Given the description of an element on the screen output the (x, y) to click on. 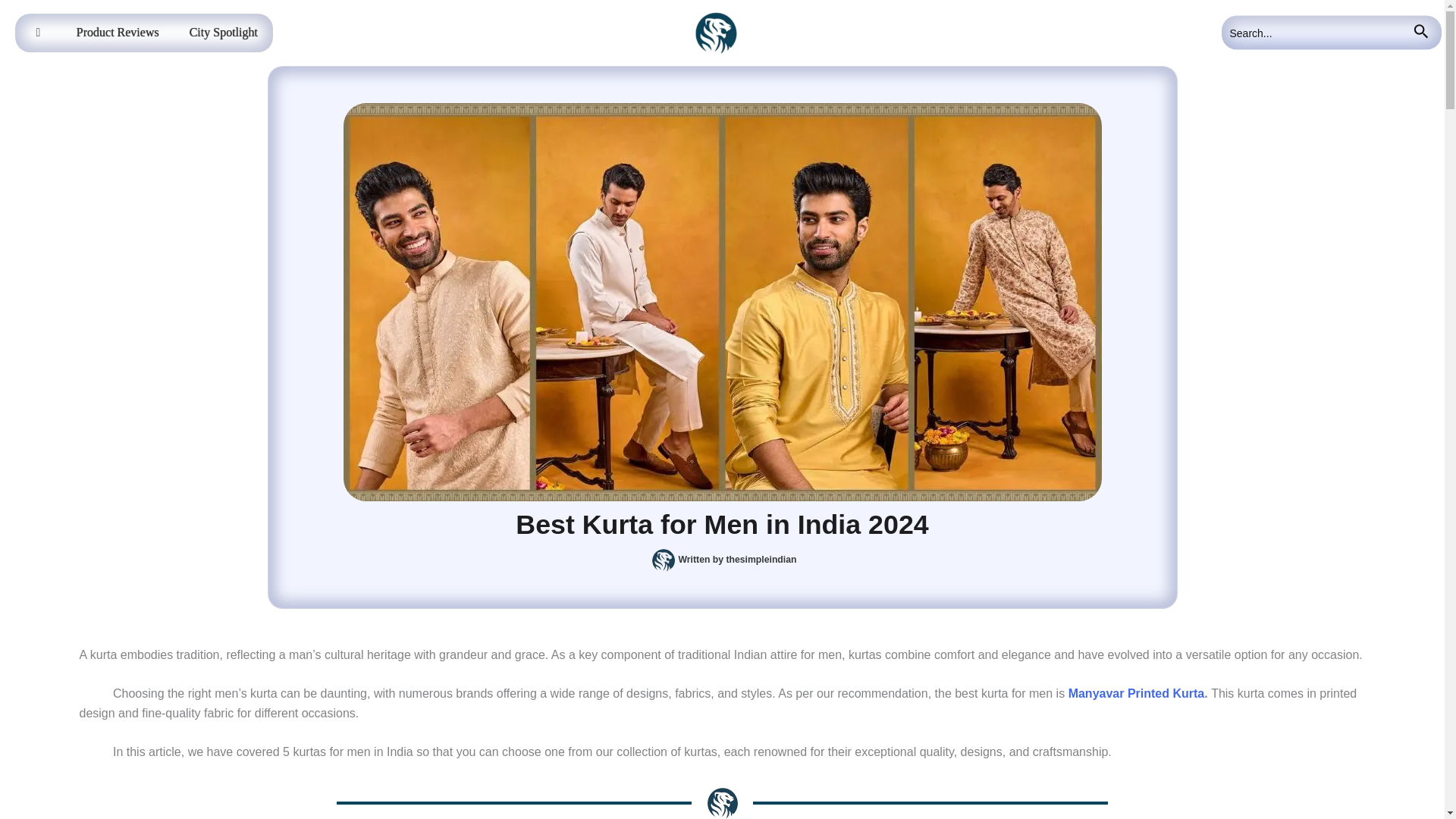
Product Reviews (117, 32)
Hamburg icon (38, 32)
View all posts by thesimpleindian (760, 559)
